Given the description of an element on the screen output the (x, y) to click on. 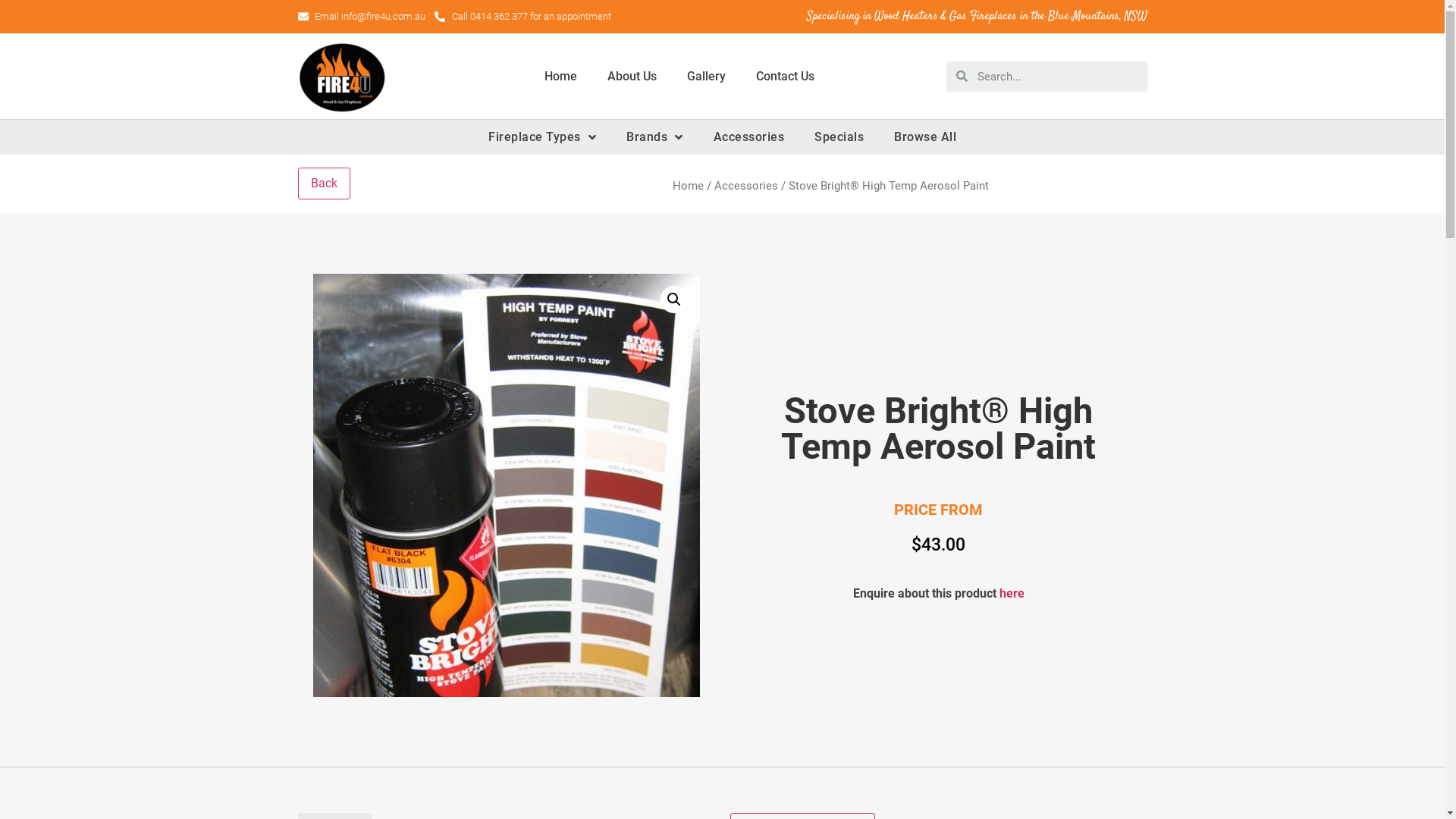
Gallery Element type: text (705, 76)
Specials Element type: text (838, 136)
Hi Temp paint Element type: hover (505, 484)
About Us Element type: text (631, 76)
Brands Element type: text (654, 136)
Fireplace Types Element type: text (542, 136)
Browse All Element type: text (924, 136)
Back Element type: text (323, 183)
Home Element type: text (686, 185)
Email info@fire4u.com.au Element type: text (361, 16)
Call 0414 362 377 for an appointment Element type: text (522, 16)
Search Element type: hover (1057, 76)
Home Element type: text (560, 76)
here Element type: text (1011, 592)
Accessories Element type: text (748, 136)
Accessories Element type: text (746, 185)
Contact Us Element type: text (784, 76)
